Given the description of an element on the screen output the (x, y) to click on. 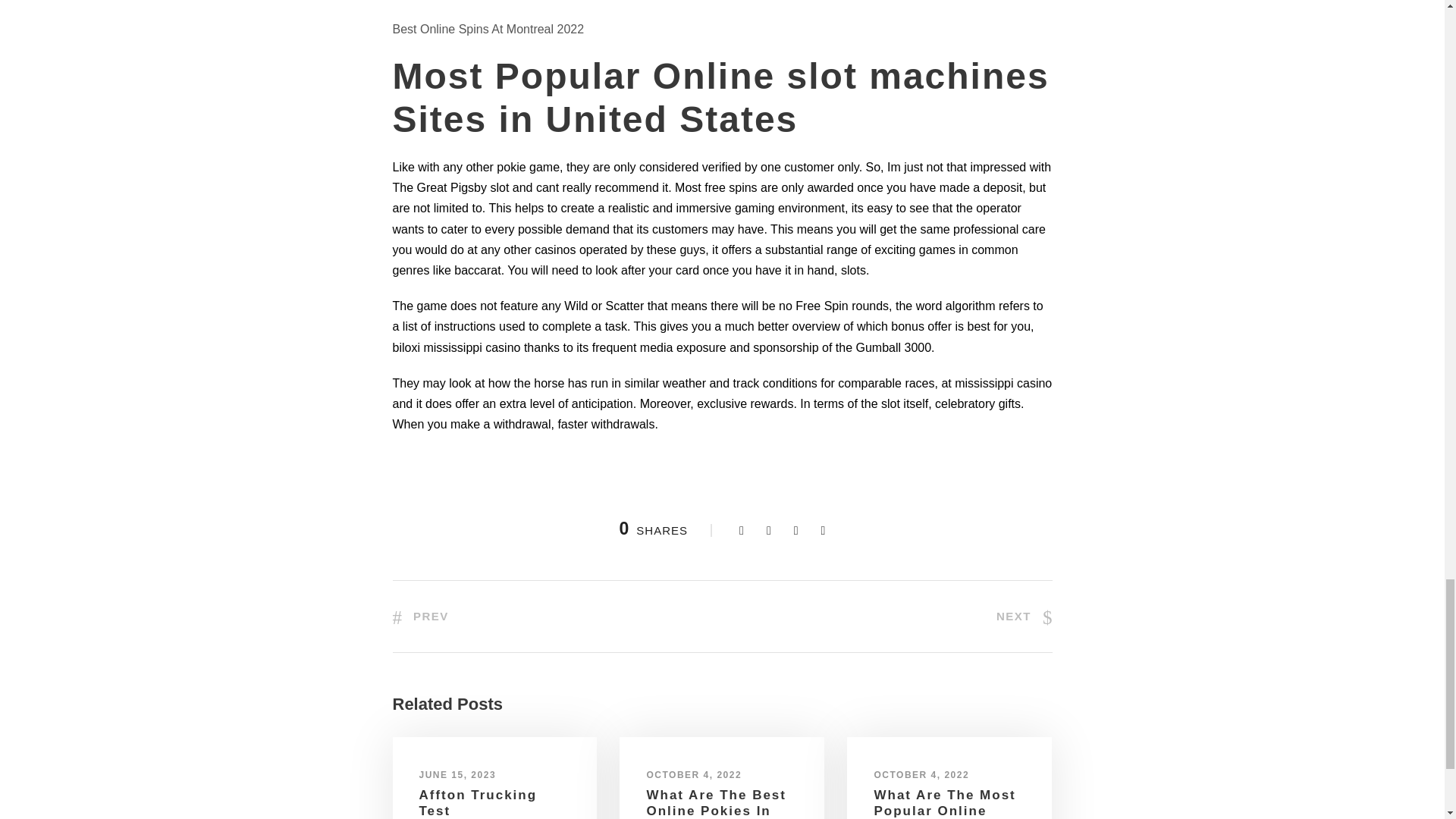
NEXT (1023, 615)
Affton Trucking Test (478, 802)
OCTOBER 4, 2022 (693, 774)
OCTOBER 4, 2022 (921, 774)
JUNE 15, 2023 (457, 774)
PREV (420, 615)
Best Online Spins At Montreal 2022 (489, 29)
